Given the description of an element on the screen output the (x, y) to click on. 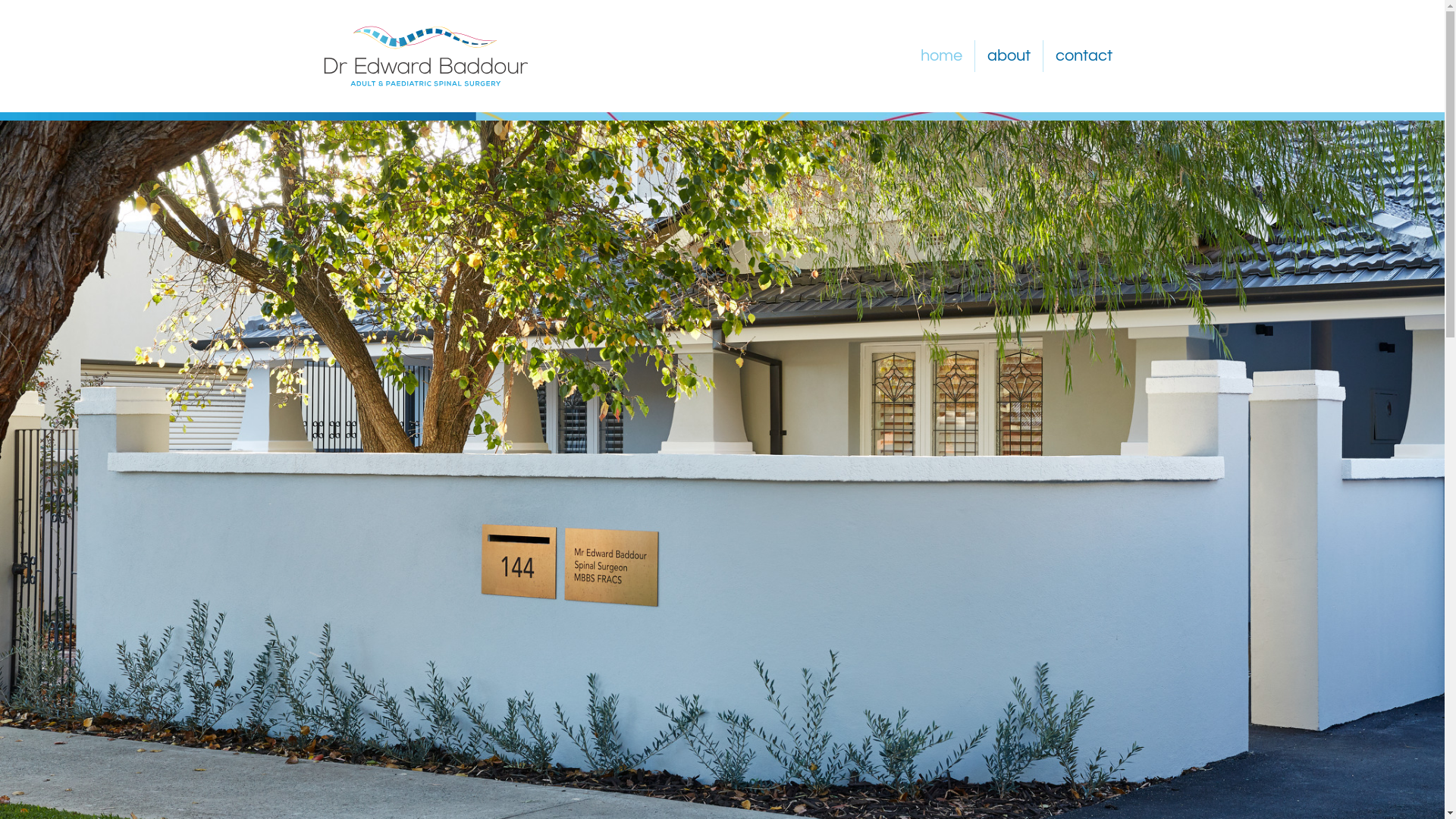
home Element type: text (941, 56)
about Element type: text (1008, 56)
contact Element type: text (1083, 56)
Dr-Edward-Baddour-Logo Element type: hover (426, 56)
